Given the description of an element on the screen output the (x, y) to click on. 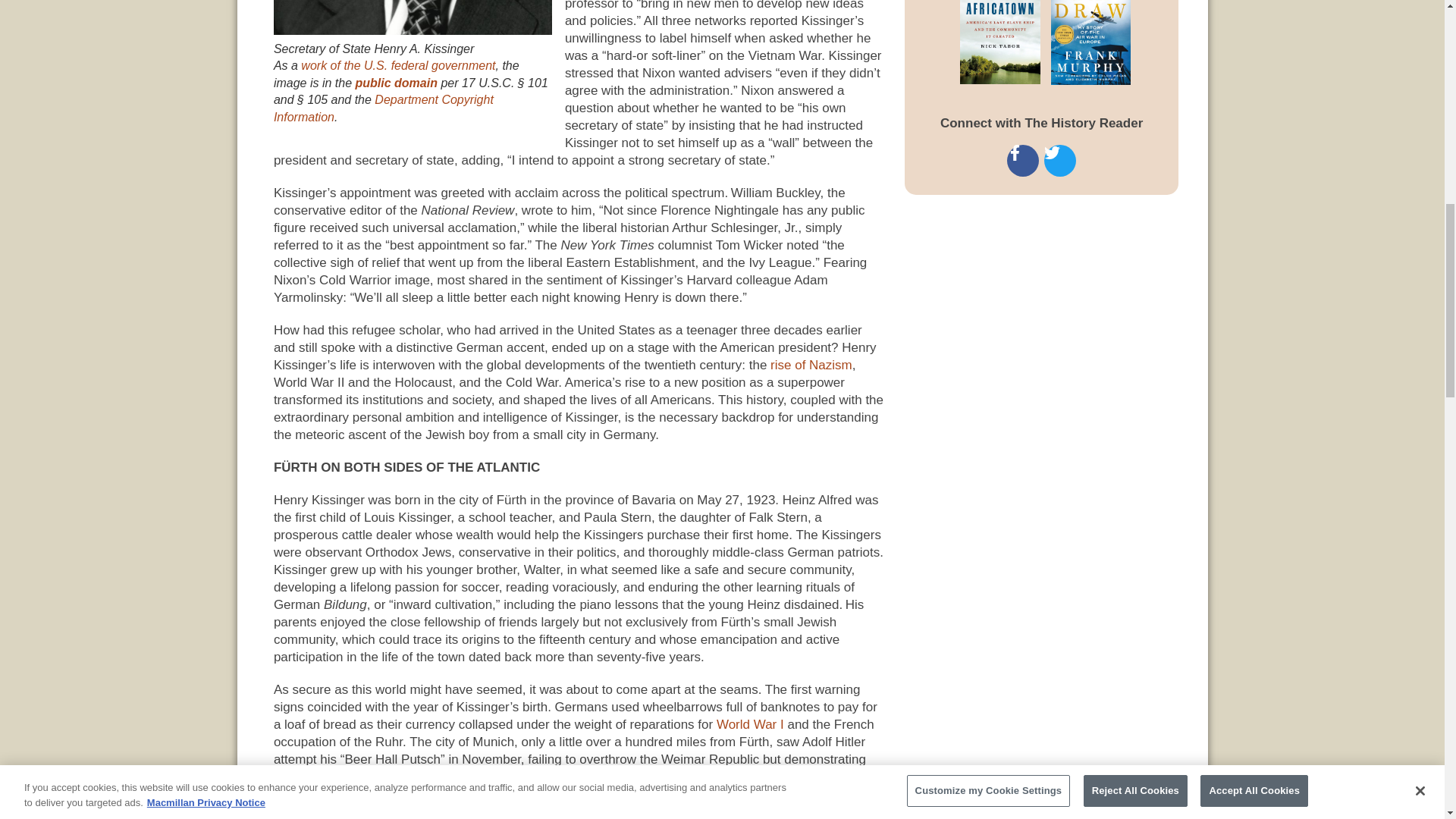
rise of Nazism (810, 364)
World War I (750, 724)
africa town (981, 42)
luck of draw (1100, 42)
work of the U.S. federal government (398, 65)
Department Copyright Information (383, 107)
public domain (395, 82)
